Given the description of an element on the screen output the (x, y) to click on. 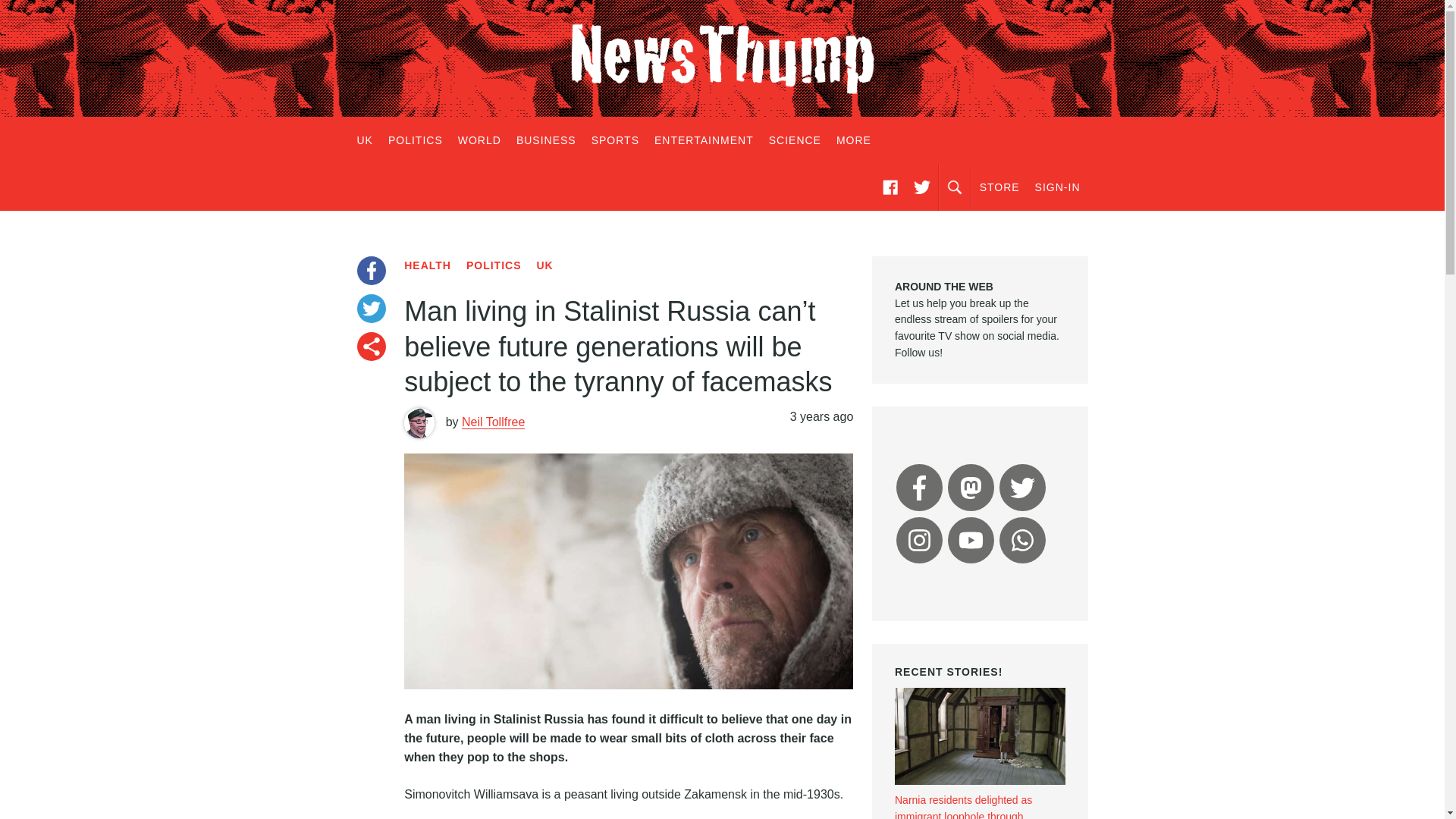
FACEBOOK (890, 186)
NewsThump (721, 58)
SPORTS (614, 140)
WORLD (478, 140)
Posts by Neil Tollfree (492, 422)
Share on Twitter (370, 308)
SEARCH (955, 186)
Share by email (370, 346)
Share on FaceBook (370, 270)
POLITICS (414, 140)
MORE (853, 140)
UK (368, 140)
TWITTER (921, 186)
SIGN-IN (1057, 186)
SCIENCE (794, 140)
